Given the description of an element on the screen output the (x, y) to click on. 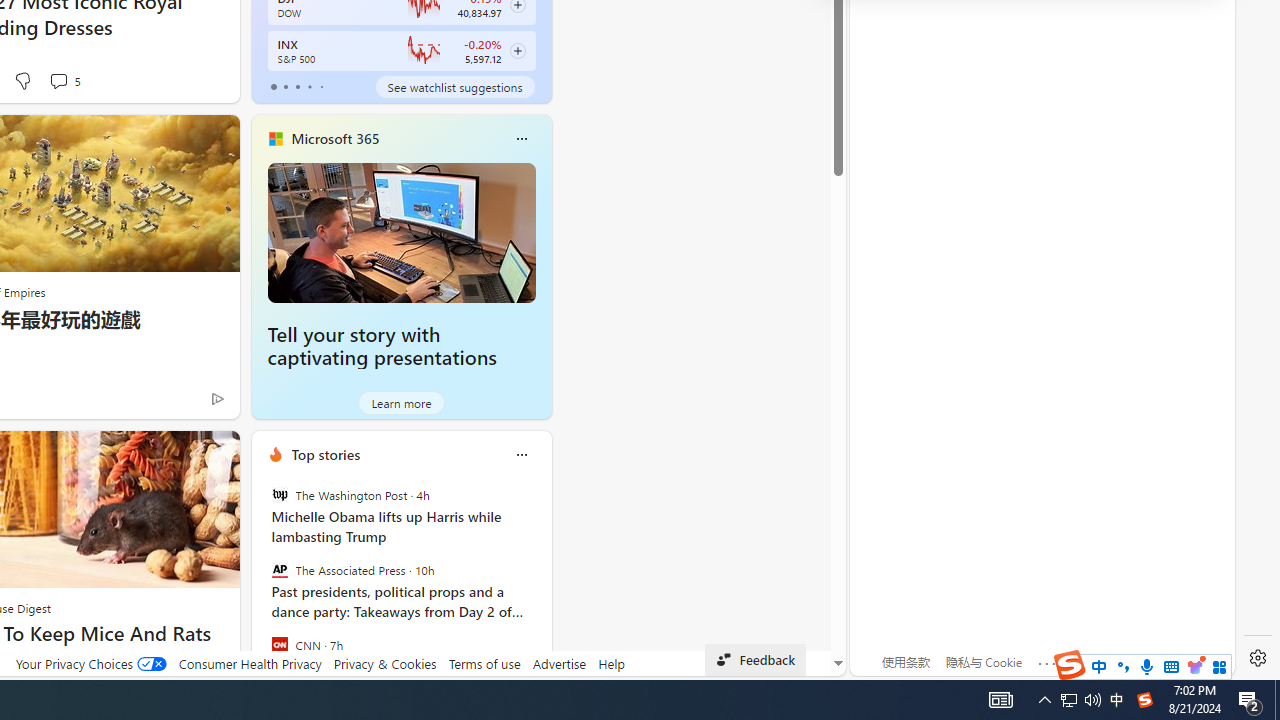
The Associated Press (279, 570)
Tell your story with captivating presentations (401, 232)
tab-1 (285, 86)
Hide this story (178, 454)
previous (261, 583)
See watchlist suggestions (454, 86)
View comments 5 Comment (64, 80)
Tell your story with captivating presentations (381, 346)
tab-2 (297, 86)
